Given the description of an element on the screen output the (x, y) to click on. 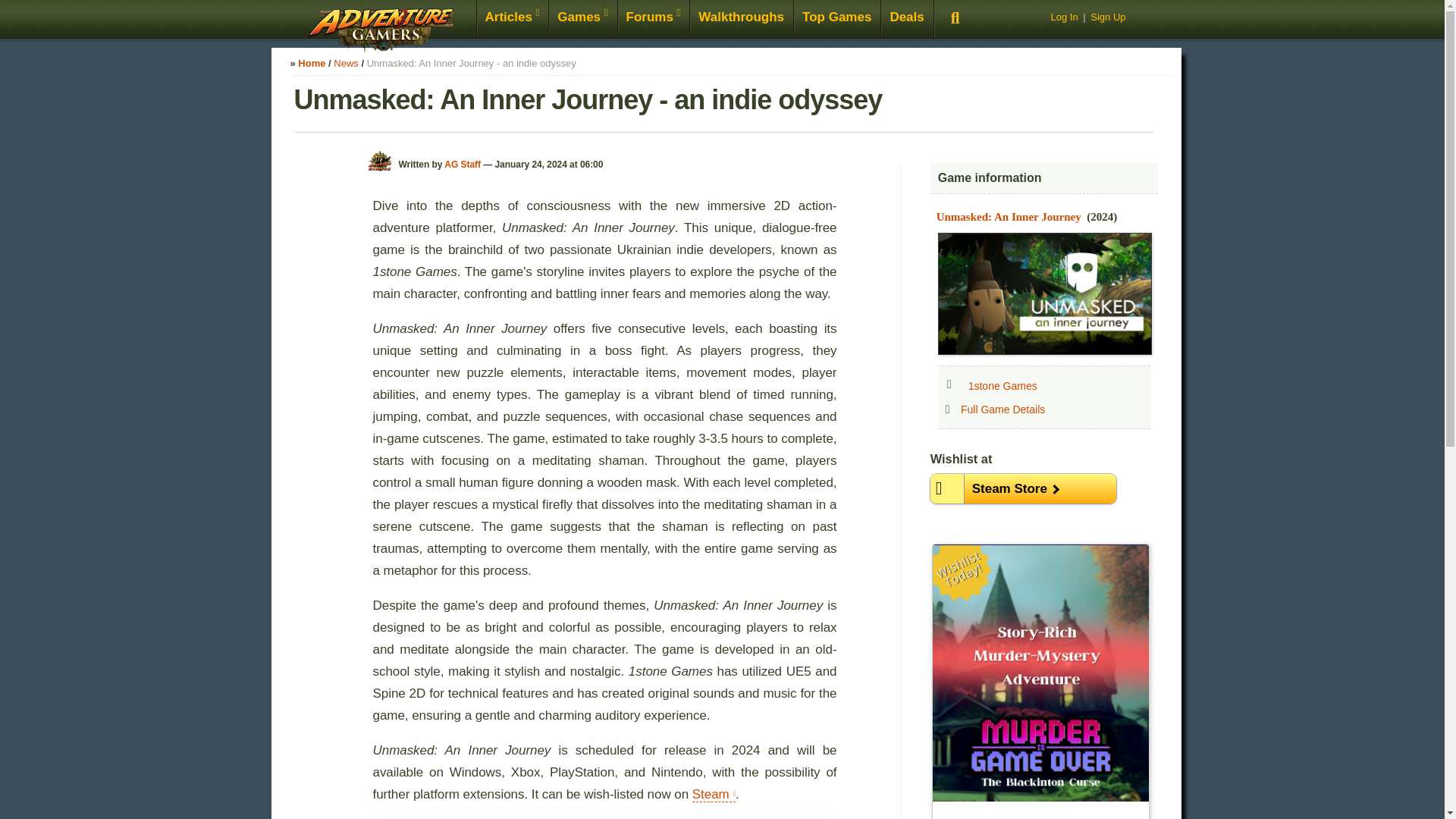
Log In (1063, 16)
Articles (512, 18)
Unmasked: An Inner Journey Box Cover (1044, 293)
Sign Up (1107, 16)
Forums (653, 18)
Games (581, 18)
